Given the description of an element on the screen output the (x, y) to click on. 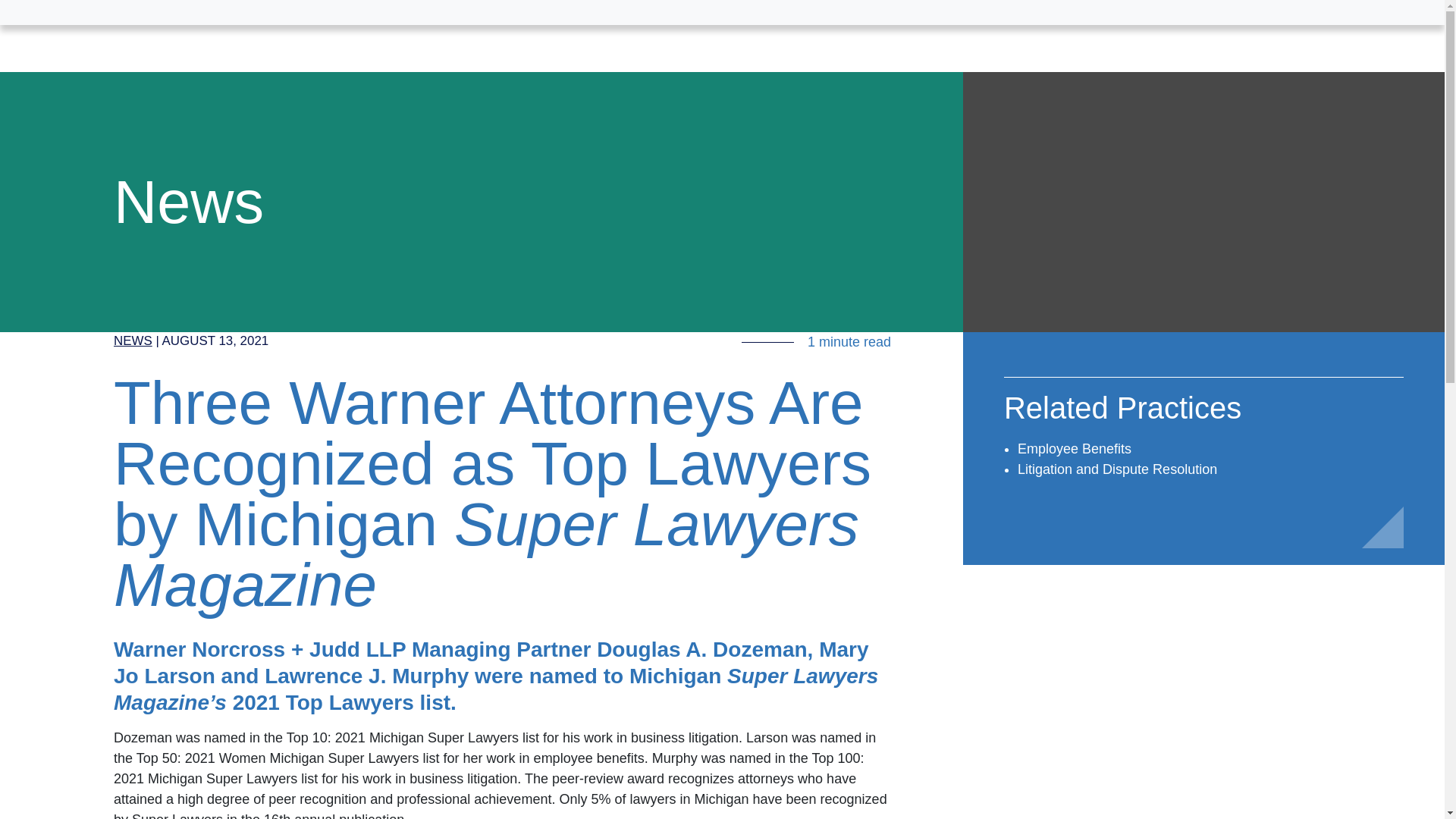
Employee Benefits (1074, 448)
Related Practices (1122, 414)
Litigation and Dispute Resolution (1117, 468)
